Given the description of an element on the screen output the (x, y) to click on. 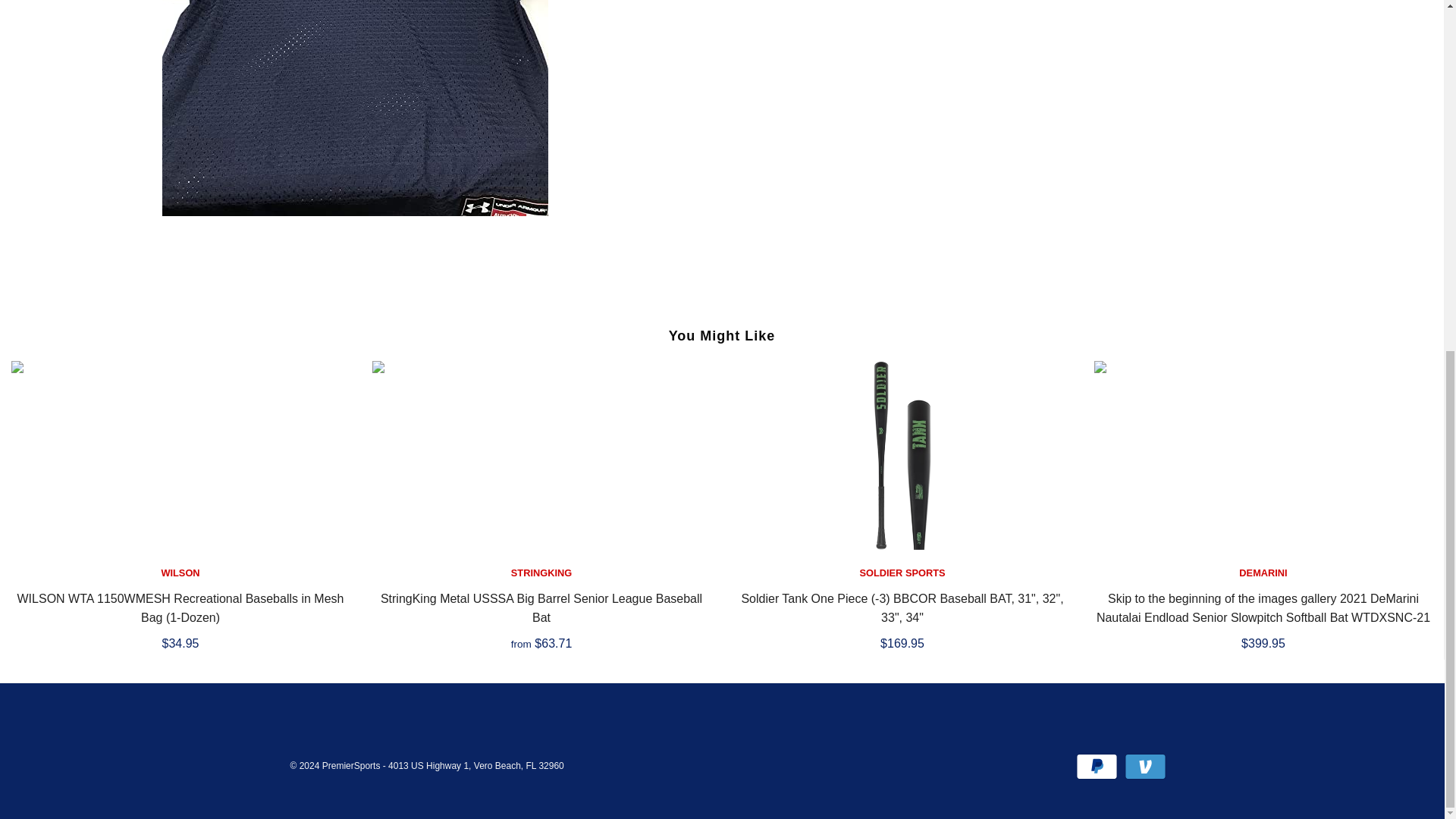
StringKing Metal USSSA Big Barrel Senior League Baseball Bat (541, 455)
DeMarini (1263, 572)
Soldier Sports (901, 572)
Venmo (1145, 766)
Stringking (541, 572)
PayPal (1096, 766)
Wilson (179, 572)
